Given the description of an element on the screen output the (x, y) to click on. 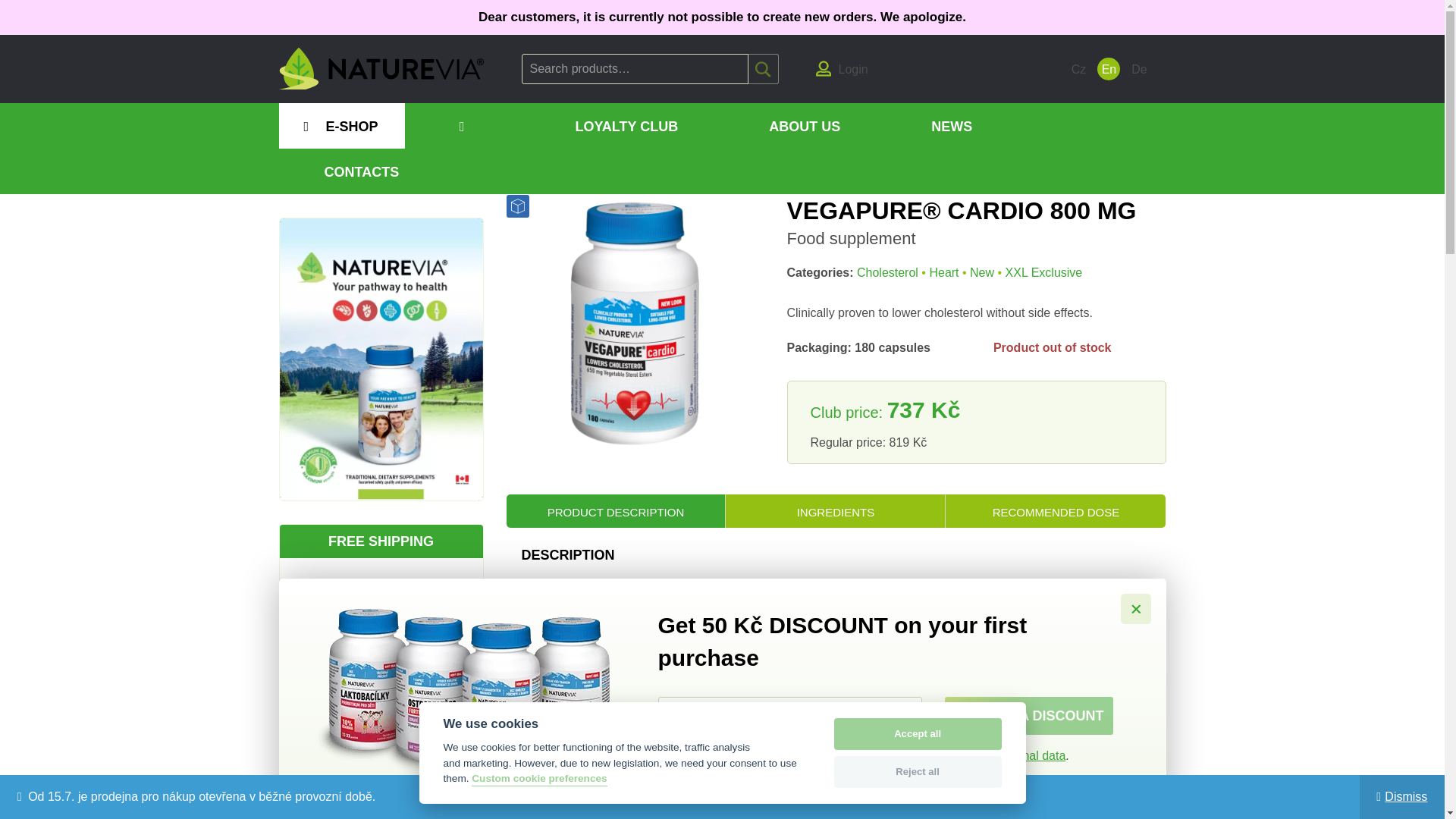
My account (841, 68)
Search (763, 69)
Cz (1078, 68)
Login (841, 68)
De (1138, 68)
1 (664, 754)
Cholesterol (385, 163)
E-shop (319, 163)
processing of personal data (991, 755)
En (1108, 68)
Naturevia (381, 68)
SEND ME A DISCOUNT (1028, 715)
